Given the description of an element on the screen output the (x, y) to click on. 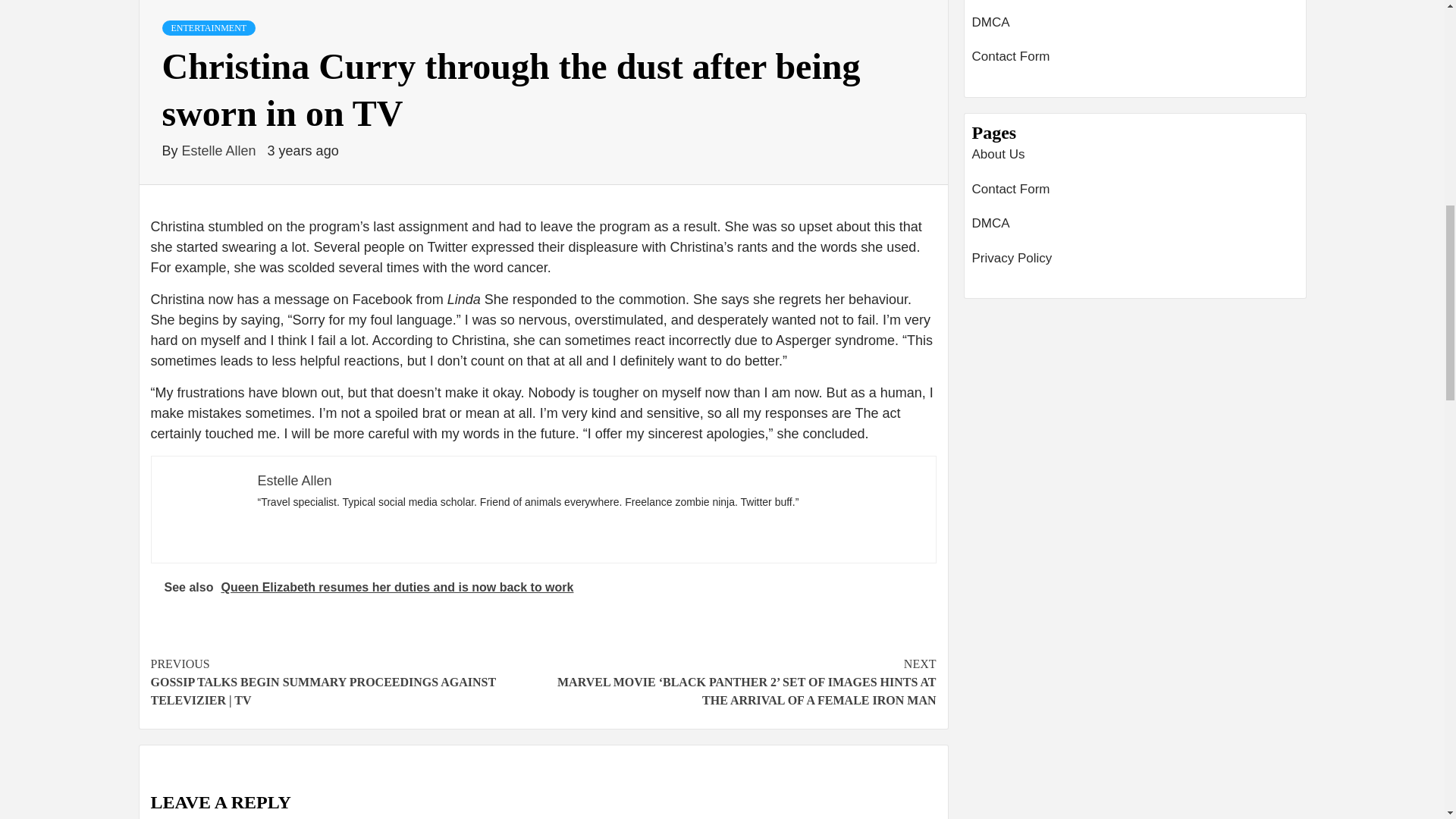
Estelle Allen (294, 480)
ENTERTAINMENT (208, 28)
Estelle Allen (221, 150)
